Given the description of an element on the screen output the (x, y) to click on. 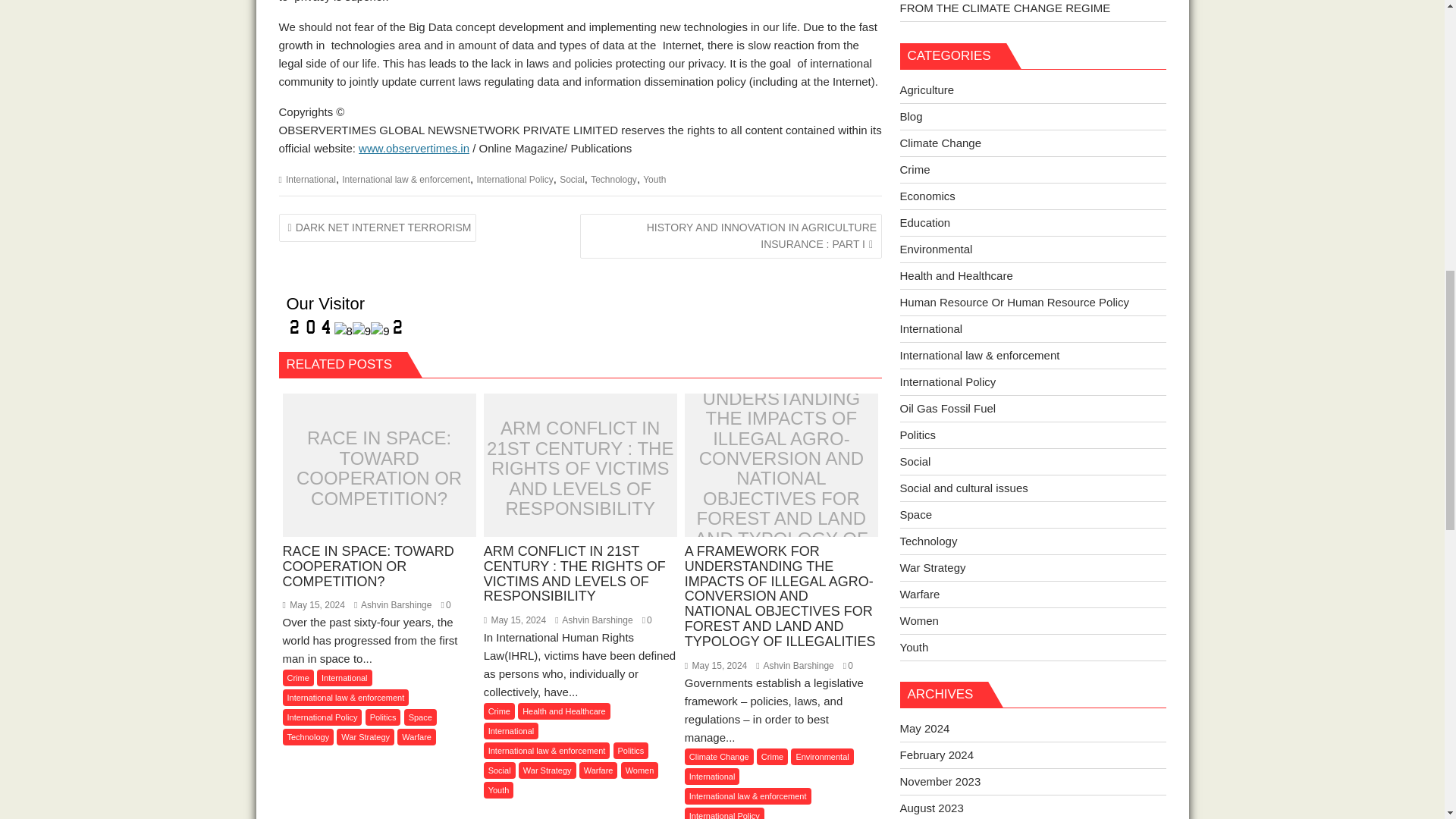
Ashvin Barshinge (391, 604)
Social (572, 179)
HISTORY AND INNOVATION IN AGRICULTURE INSURANCE : PART I (730, 236)
International (310, 179)
Crime (297, 677)
0 (446, 604)
Ashvin Barshinge (592, 620)
International Policy (514, 179)
May 15, 2024 (312, 604)
DARK NET INTERNET TERRORISM (378, 227)
Ashvin Barshinge (391, 604)
Youth (654, 179)
International (344, 677)
RACE IN SPACE: TOWARD COOPERATION OR COMPETITION? (379, 503)
International Policy (321, 717)
